Given the description of an element on the screen output the (x, y) to click on. 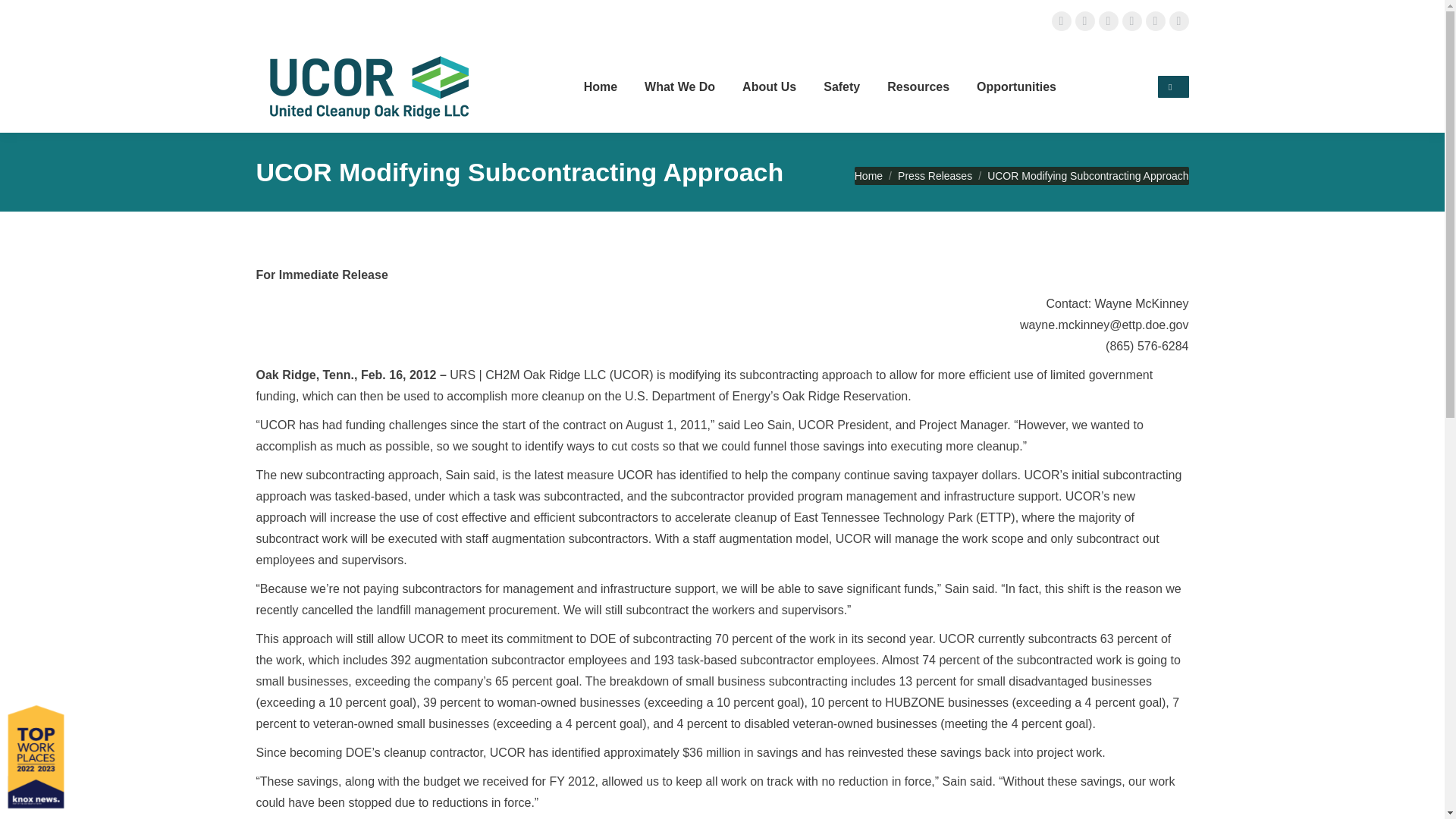
Instagram page opens in new window (1107, 20)
YouTube page opens in new window (1154, 20)
What We Do (679, 86)
Resources (917, 86)
Flickr page opens in new window (1179, 20)
Flickr page opens in new window (1179, 20)
About Us (769, 86)
Facebook page opens in new window (1060, 20)
Facebook page opens in new window (1060, 20)
Twitter page opens in new window (1084, 20)
YouTube page opens in new window (1154, 20)
Safety (842, 86)
Linkedin page opens in new window (1131, 20)
Home (600, 86)
Twitter page opens in new window (1084, 20)
